Given the description of an element on the screen output the (x, y) to click on. 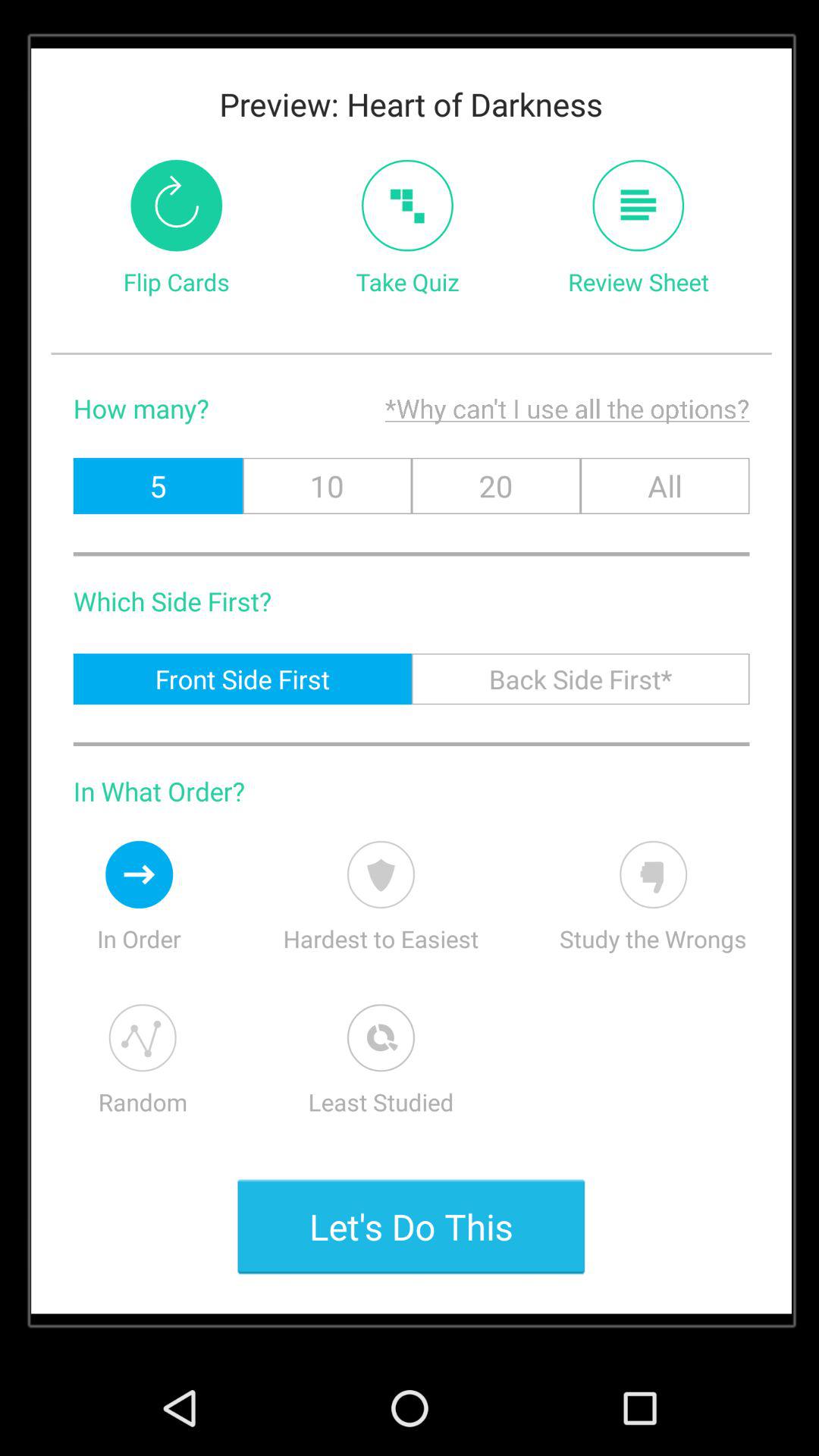
review sheet button (638, 205)
